Given the description of an element on the screen output the (x, y) to click on. 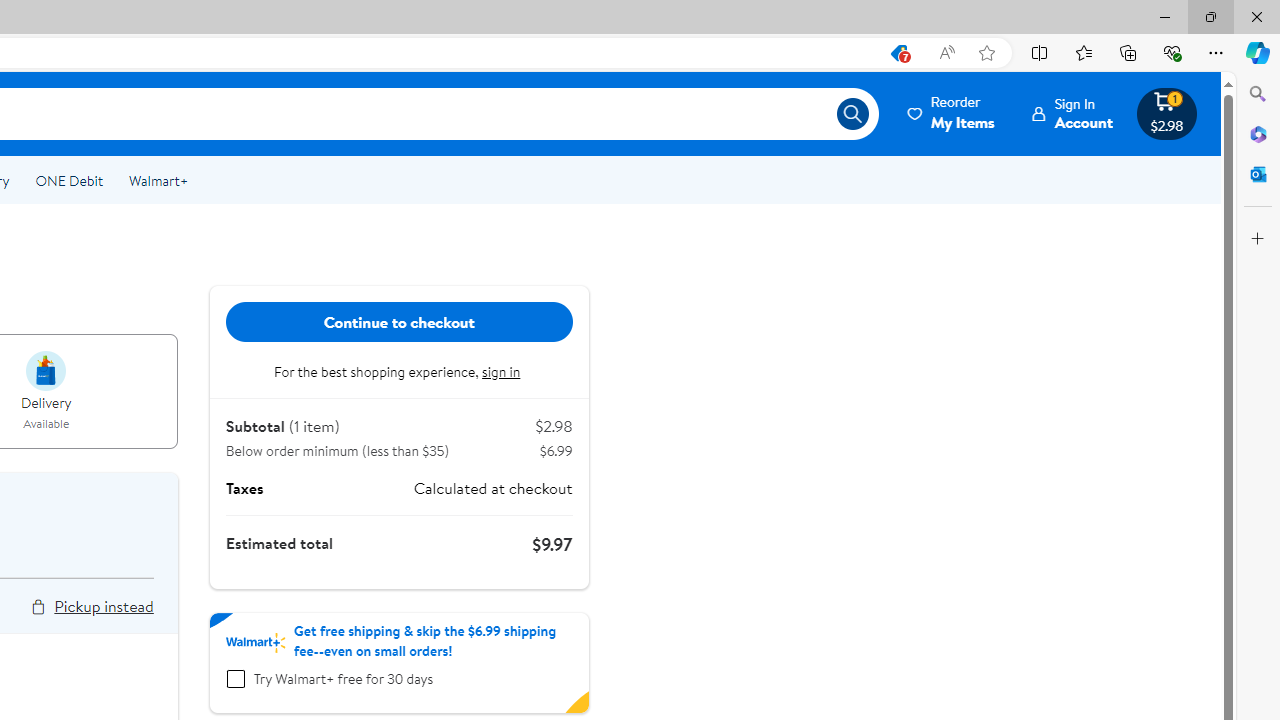
Pickup instead (103, 606)
ONE Debit (68, 180)
Search icon (852, 113)
Continue to checkout (399, 321)
This site has coupons! Shopping in Microsoft Edge, 7 (898, 53)
